Given the description of an element on the screen output the (x, y) to click on. 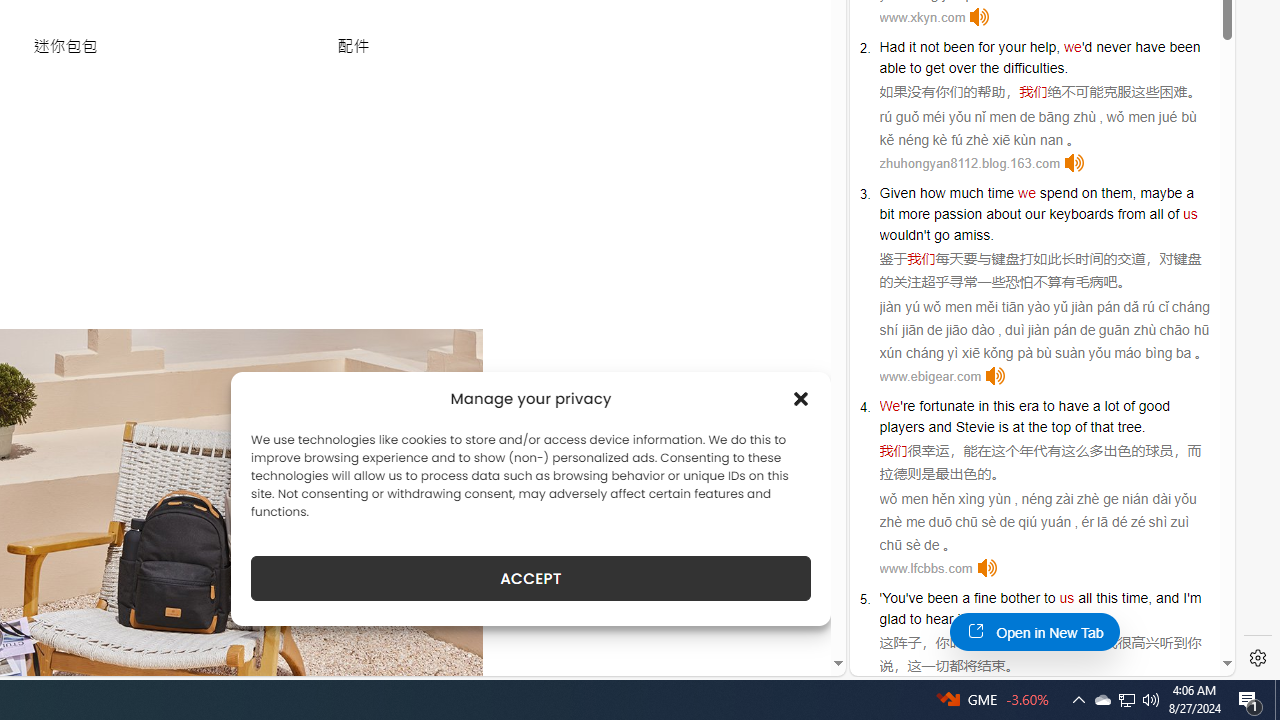
a bit (1036, 203)
